Given the description of an element on the screen output the (x, y) to click on. 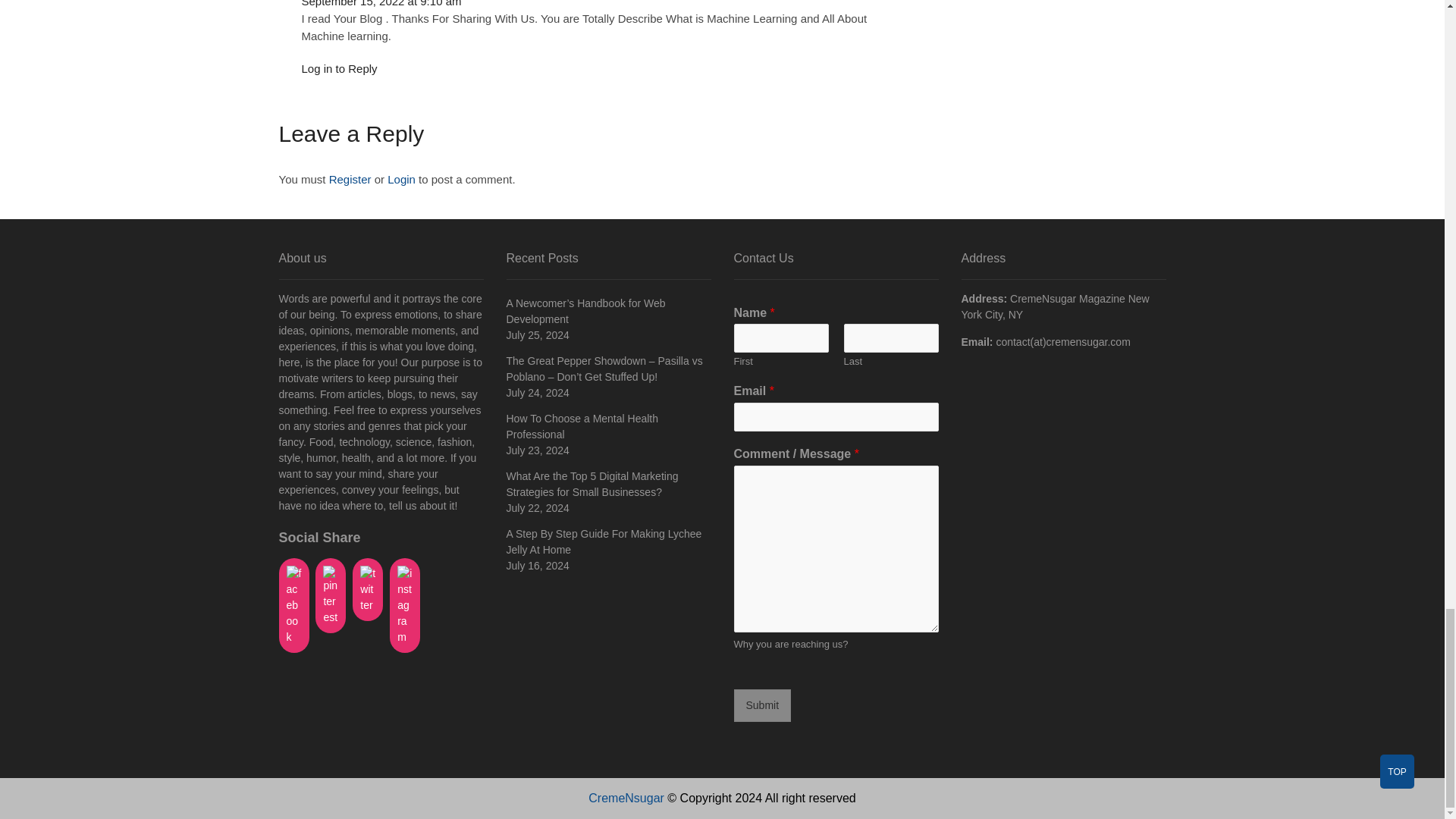
CremeNsugar (625, 797)
